Given the description of an element on the screen output the (x, y) to click on. 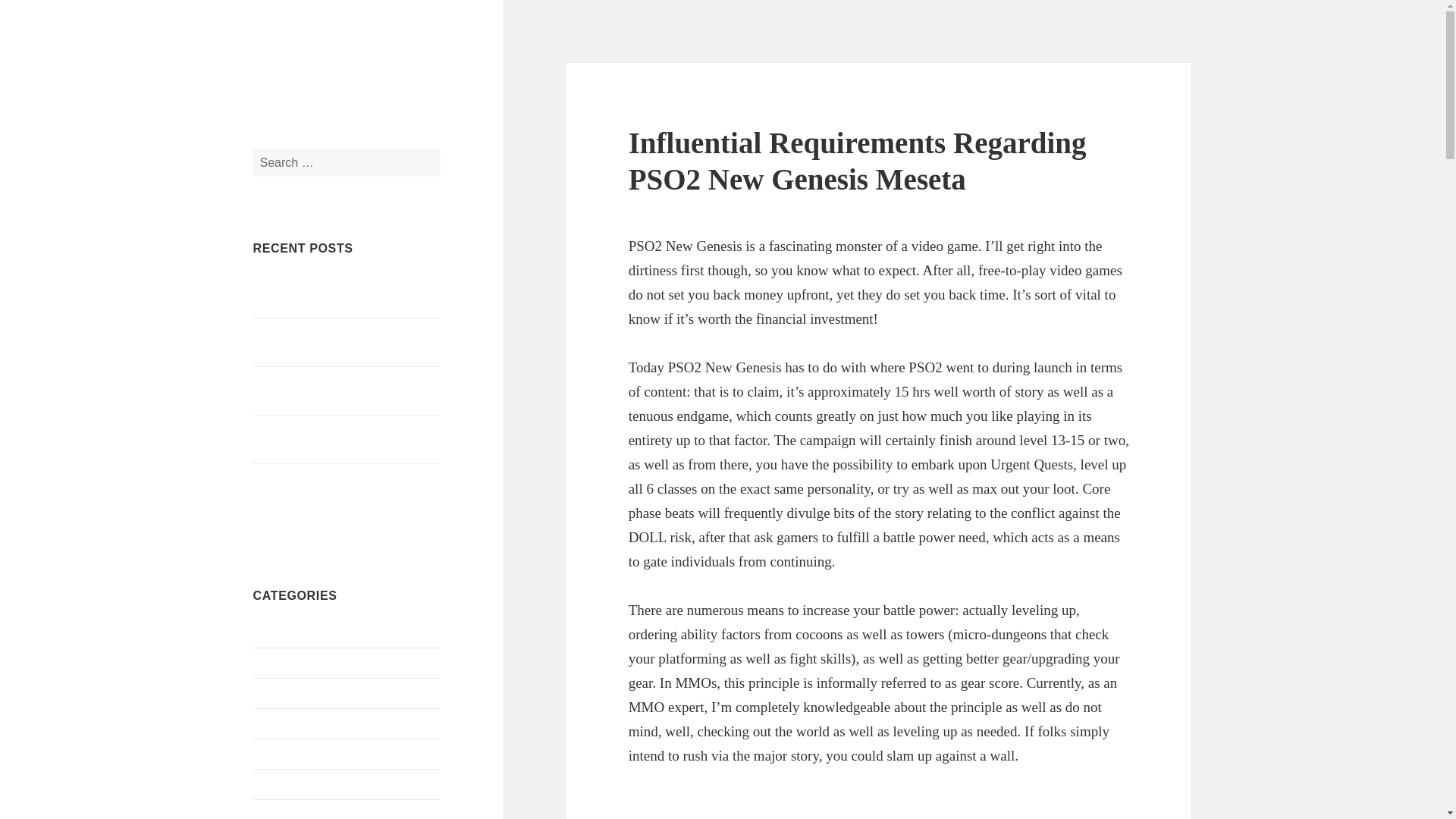
Albion Online (288, 631)
COD MW3 (281, 692)
ArcheAge (277, 662)
Destiny 2 (276, 813)
Destiny (272, 783)
Sightline Survey Hand Cannon Guide: Destiny 2 (347, 390)
ELDERSCROLLSUPDATE (378, 74)
The Rarest Hoods in Fallout 76 Revealed (329, 341)
Dynasty Mode CFB25: Building to Championship (339, 293)
Dark and Darker (293, 753)
College Football 25 (301, 722)
